Given the description of an element on the screen output the (x, y) to click on. 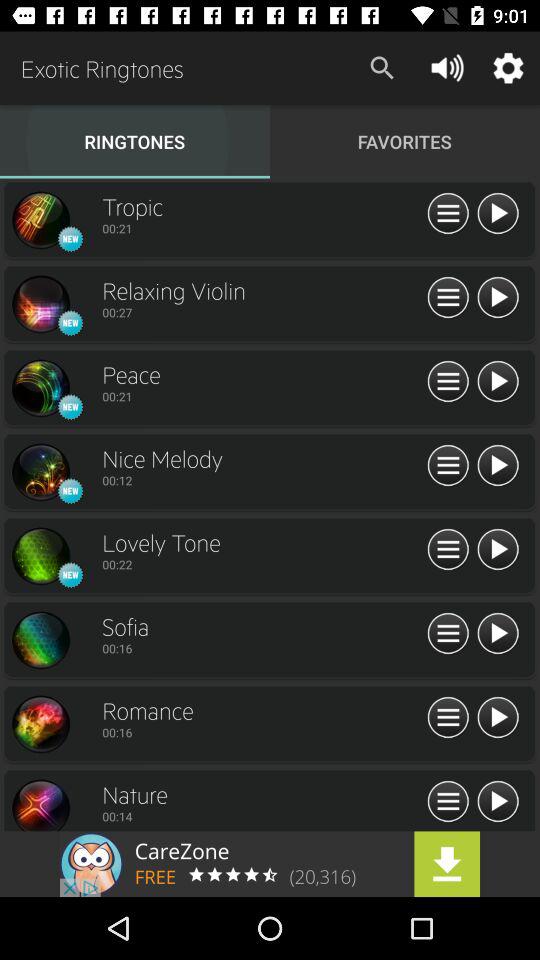
go to peace ringtone (40, 388)
